Given the description of an element on the screen output the (x, y) to click on. 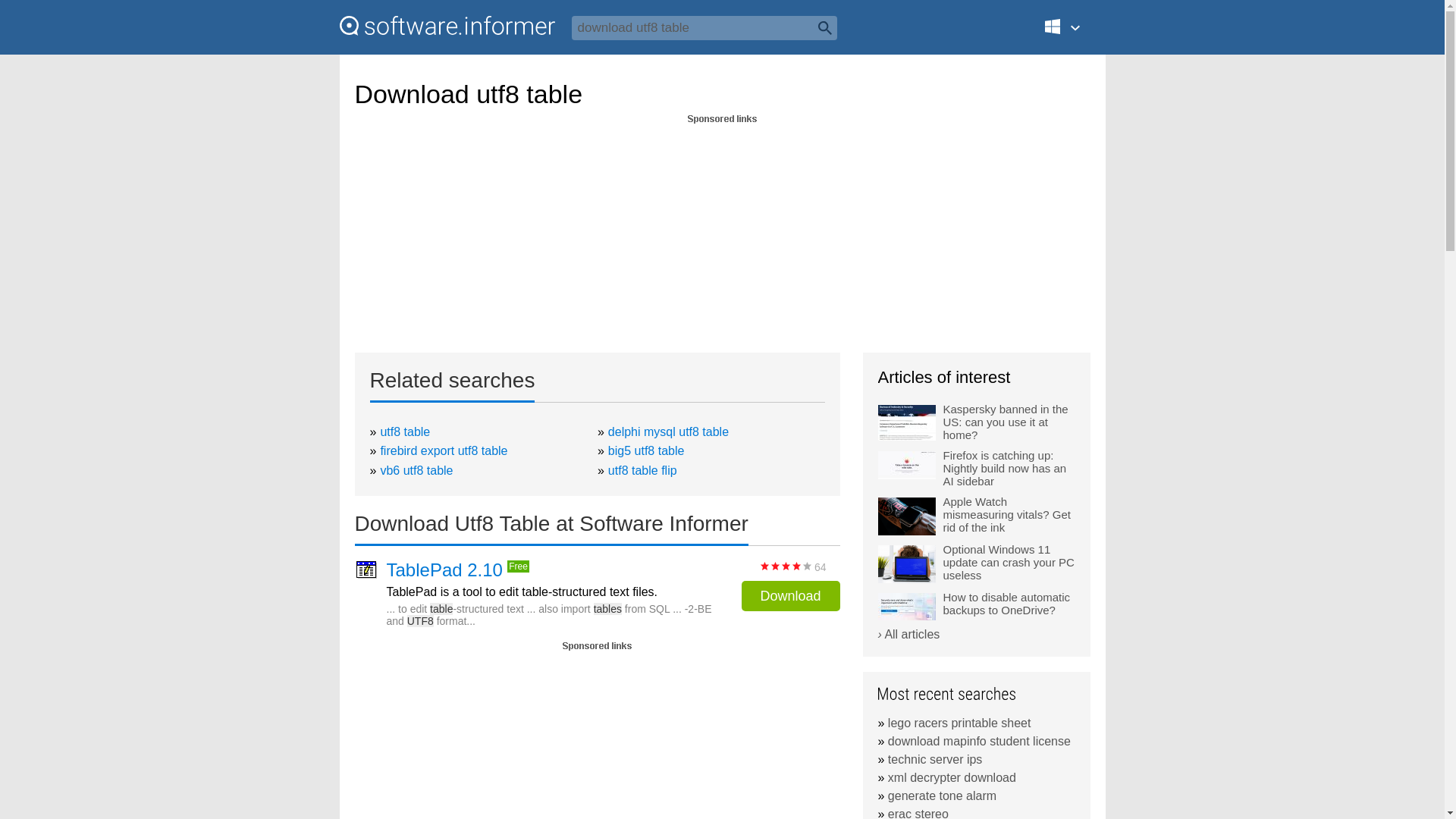
Software downloads and reviews (446, 25)
delphi mysql utf8 table (668, 431)
utf8 table (404, 431)
Download (790, 595)
TablePad 2.10 (444, 569)
TablePad 2.10 (444, 569)
64 votes (785, 565)
utf8 table flip (642, 470)
firebird export utf8 table (443, 450)
Advertisement (597, 735)
vb6 utf8 table (416, 470)
